Given the description of an element on the screen output the (x, y) to click on. 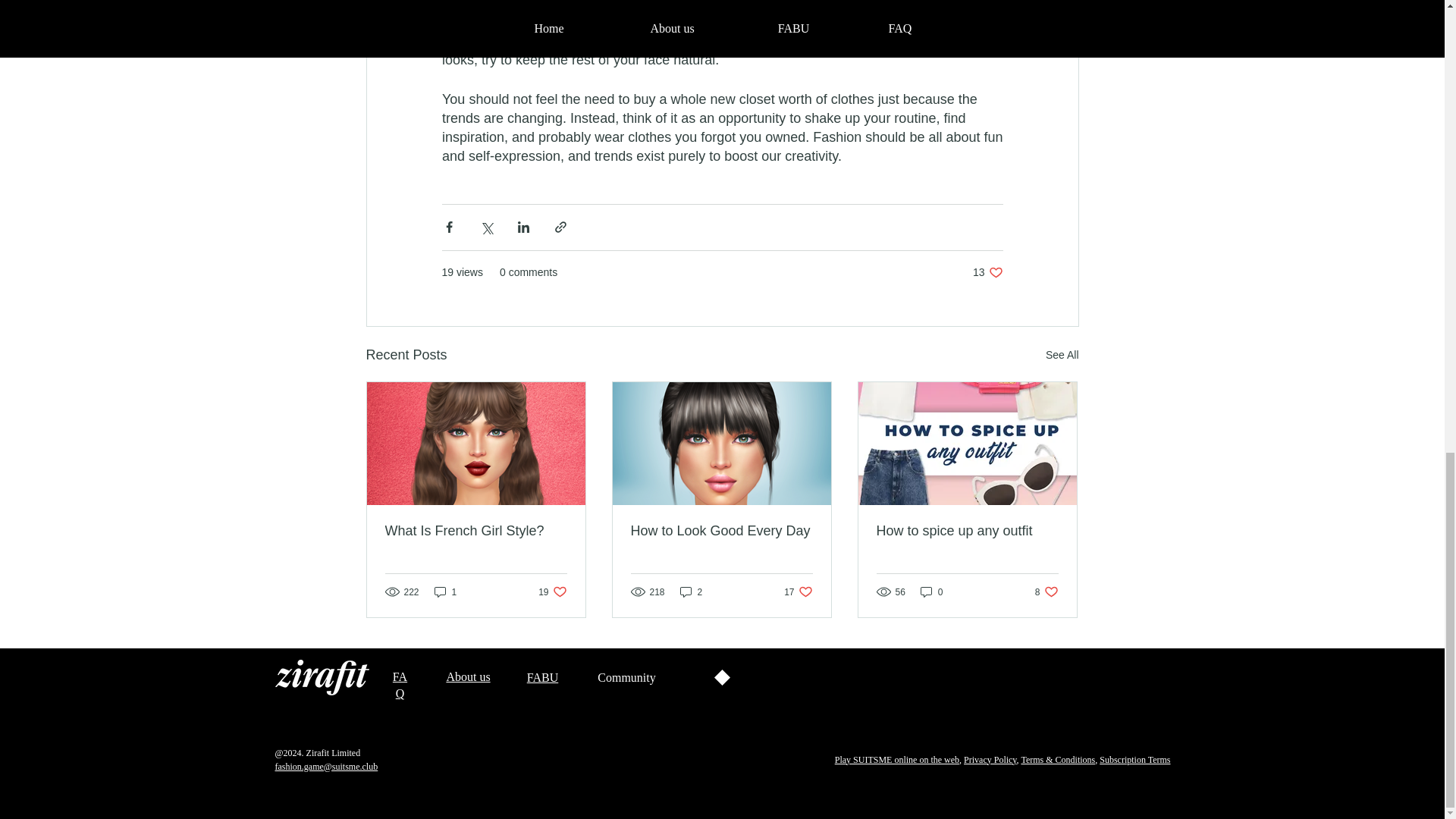
How to Look Good Every Day (1046, 591)
See All (721, 530)
Subscription Terms (798, 591)
1 (1061, 354)
2 (1134, 759)
FABU (445, 591)
About us (691, 591)
Play SUITSME online on the web (552, 591)
Privacy Policy (543, 676)
What Is French Girl Style? (467, 676)
How to spice up any outfit (896, 759)
